Given the description of an element on the screen output the (x, y) to click on. 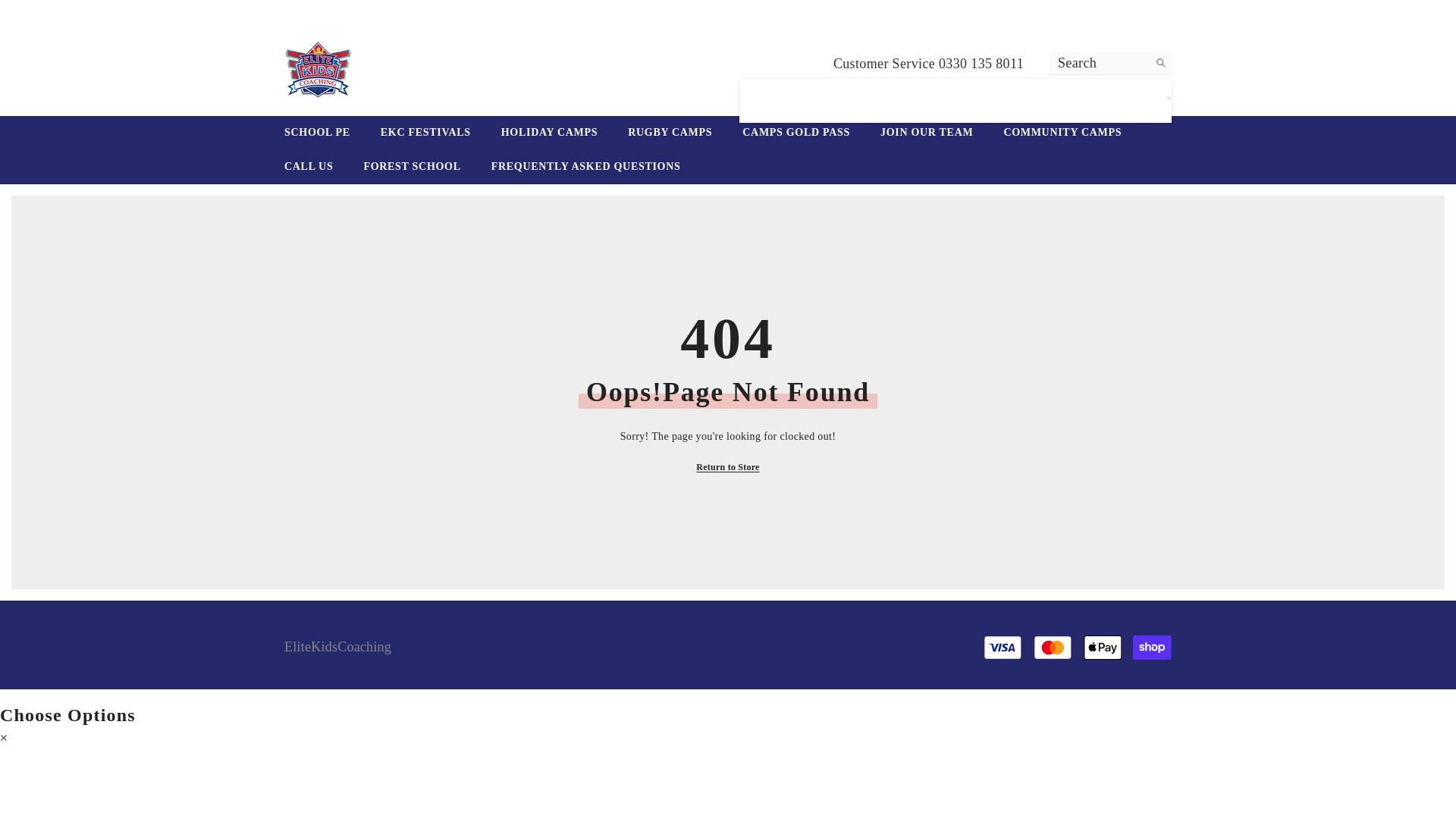
Visa (1003, 647)
FREQUENTLY ASKED QUESTIONS (585, 166)
CALL US (308, 166)
HOLIDAY CAMPS (549, 132)
CAMPS GOLD PASS (795, 132)
RUGBY CAMPS (669, 132)
COMMUNITY CAMPS (1062, 132)
Mastercard (1052, 647)
FOREST SCHOOL (411, 166)
Apple Pay (1102, 647)
Shop Pay (1152, 647)
Return to Store (726, 466)
JOIN OUR TEAM (926, 132)
